Given the description of an element on the screen output the (x, y) to click on. 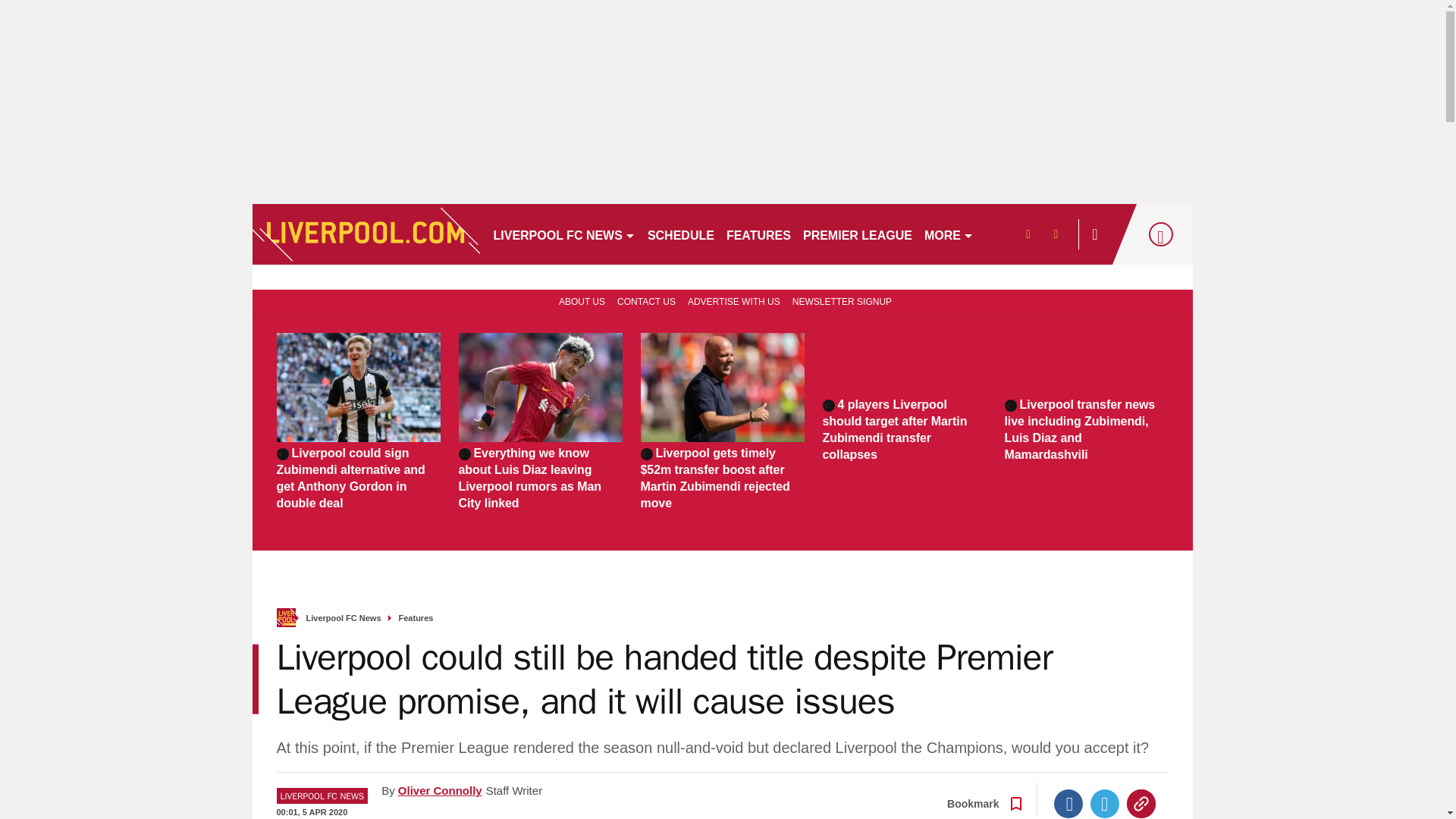
frontpage (285, 617)
Features (415, 618)
PREMIER LEAGUE (857, 233)
CONTACT US (646, 300)
ABOUT US (579, 300)
MORE (948, 233)
facebook (1026, 233)
FEATURES (758, 233)
